Given the description of an element on the screen output the (x, y) to click on. 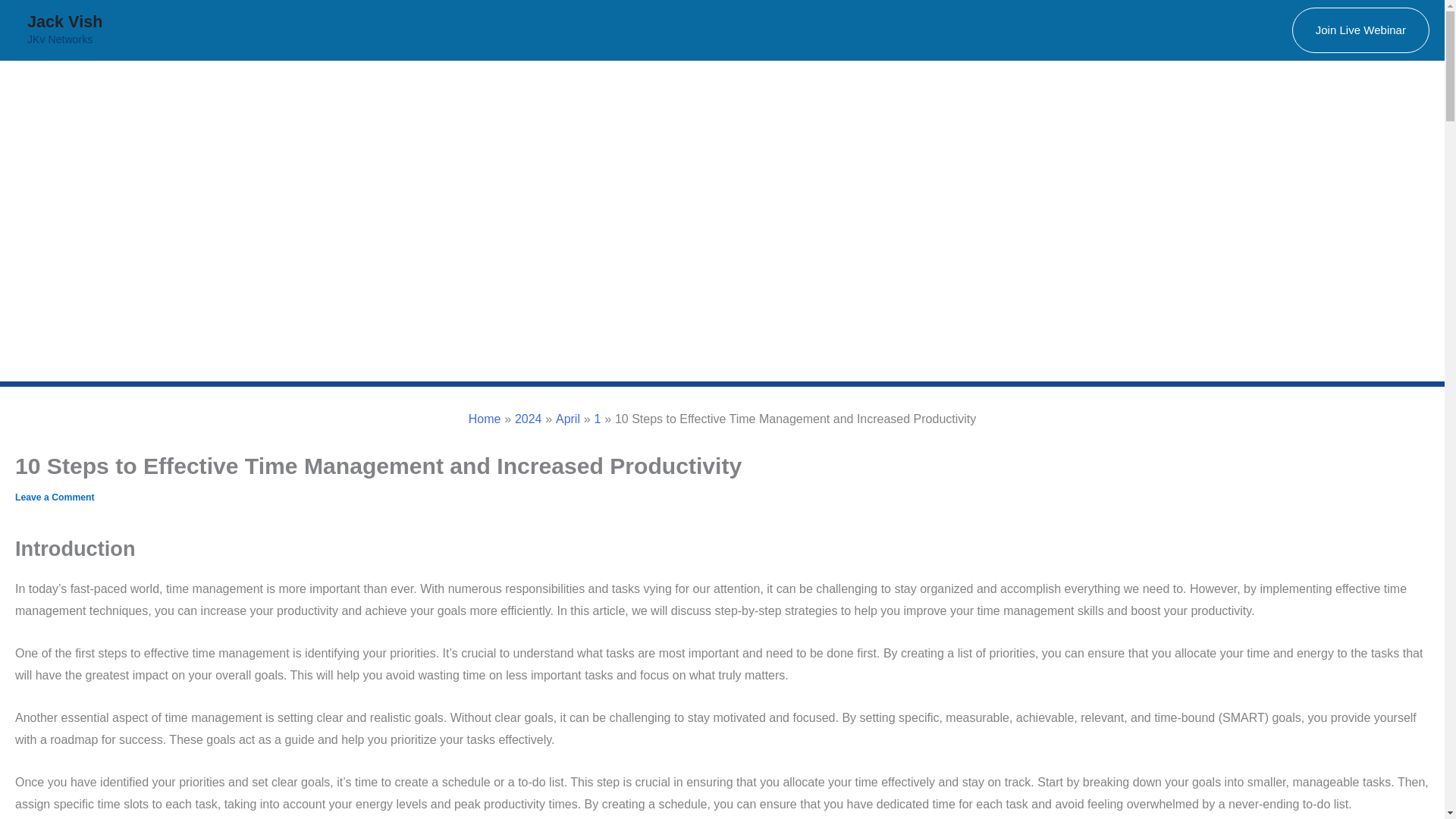
Home (484, 418)
2024 (528, 418)
Leave a Comment (54, 497)
Jack Vish (64, 21)
Join Live Webinar (1360, 30)
April (567, 418)
